Given the description of an element on the screen output the (x, y) to click on. 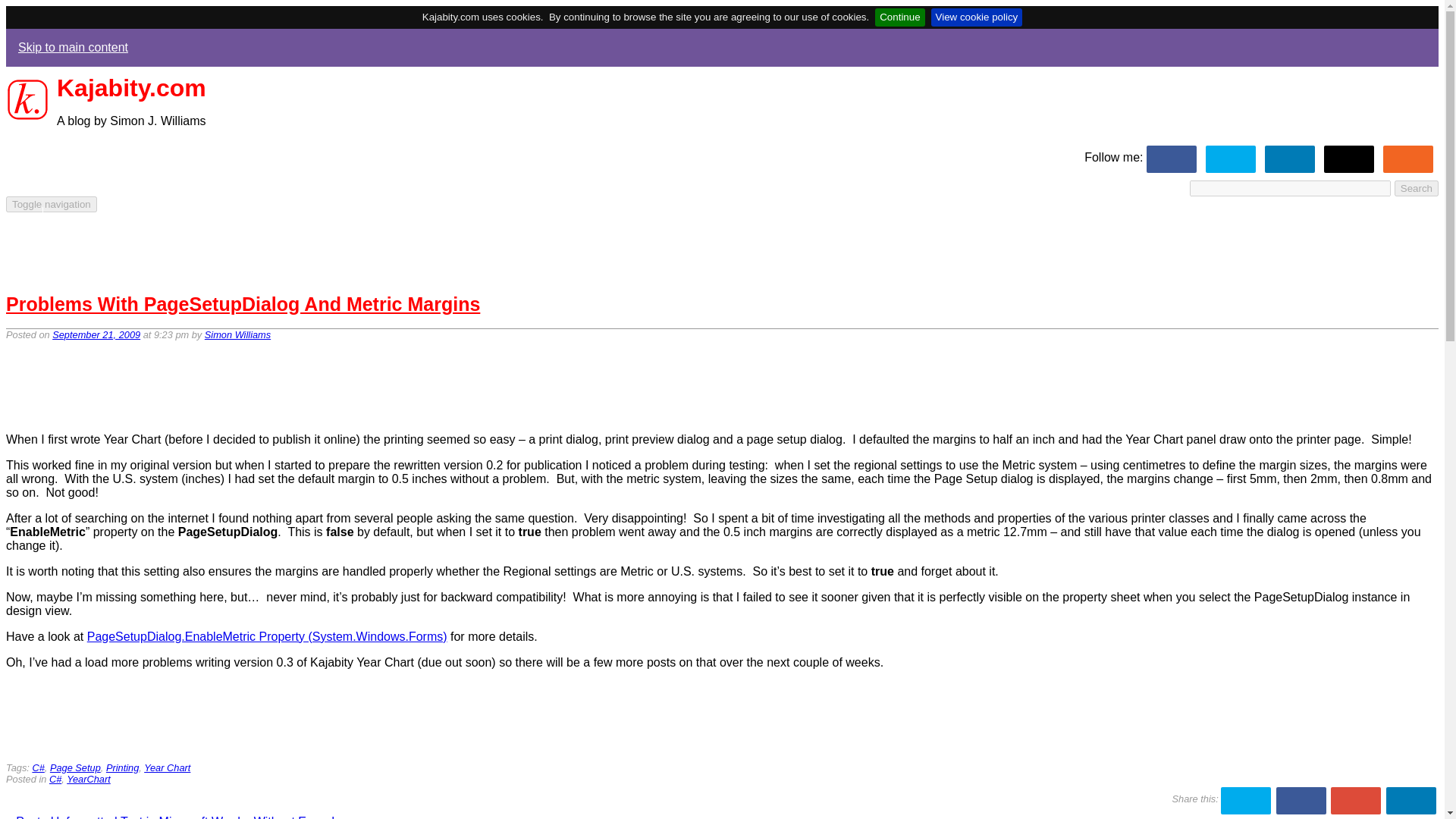
YearChart (88, 778)
YearChart (32, 232)
Posts by Simon Williams (237, 334)
Follow me on LinkedIn. (1291, 156)
Wiki Text (29, 259)
YearChart (32, 232)
View cookie policy (977, 17)
About (21, 273)
Follow Kajabity on Facebook. (1172, 156)
Clone or fork Kajabity repositories on GitHub. (1349, 156)
Home (21, 218)
Simon Williams (237, 334)
Page Setup (74, 767)
Toggle navigation (51, 204)
Kajabity Tools (42, 245)
